Given the description of an element on the screen output the (x, y) to click on. 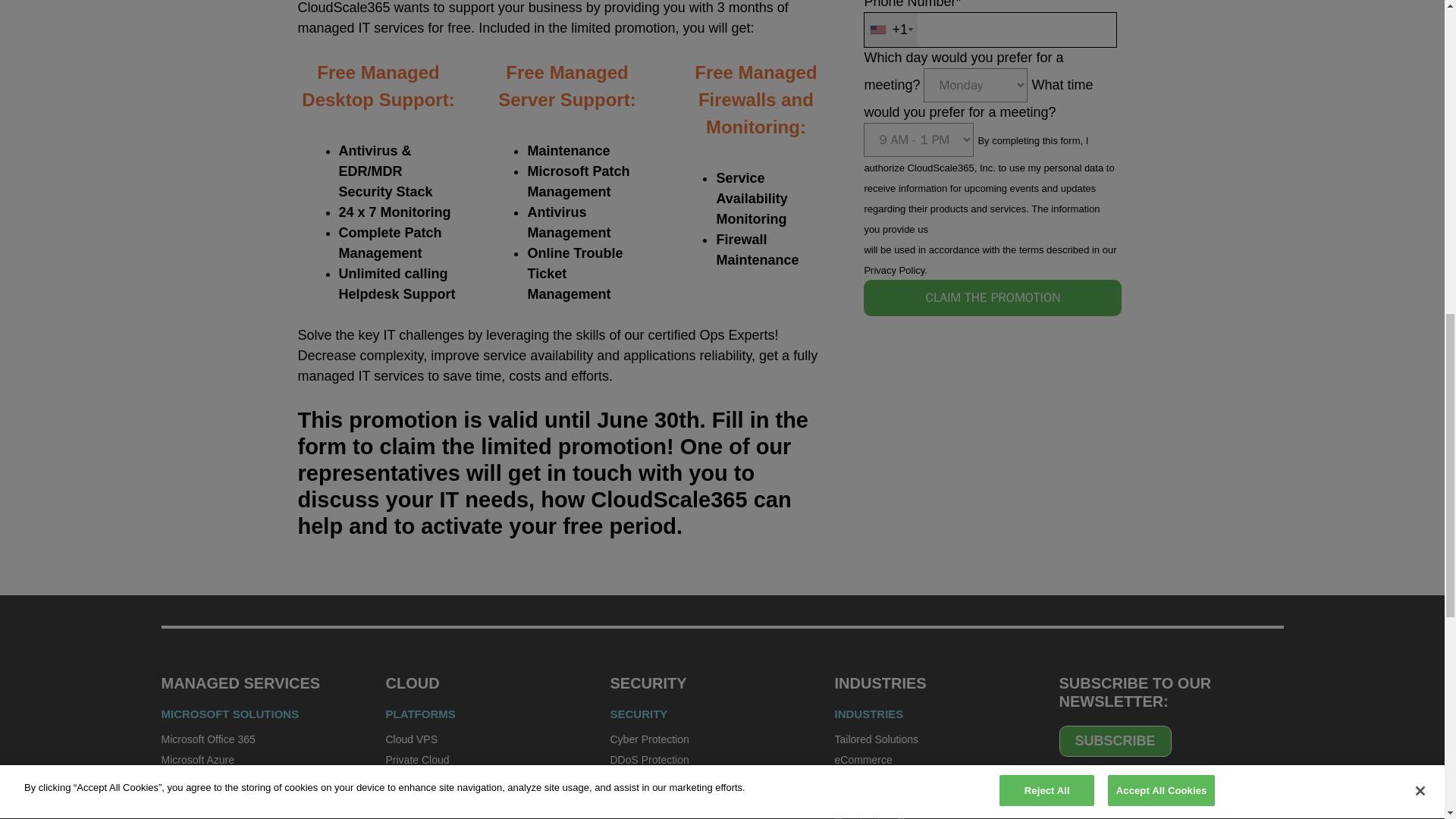
CLAIM THE PROMOTION (992, 298)
